Given the description of an element on the screen output the (x, y) to click on. 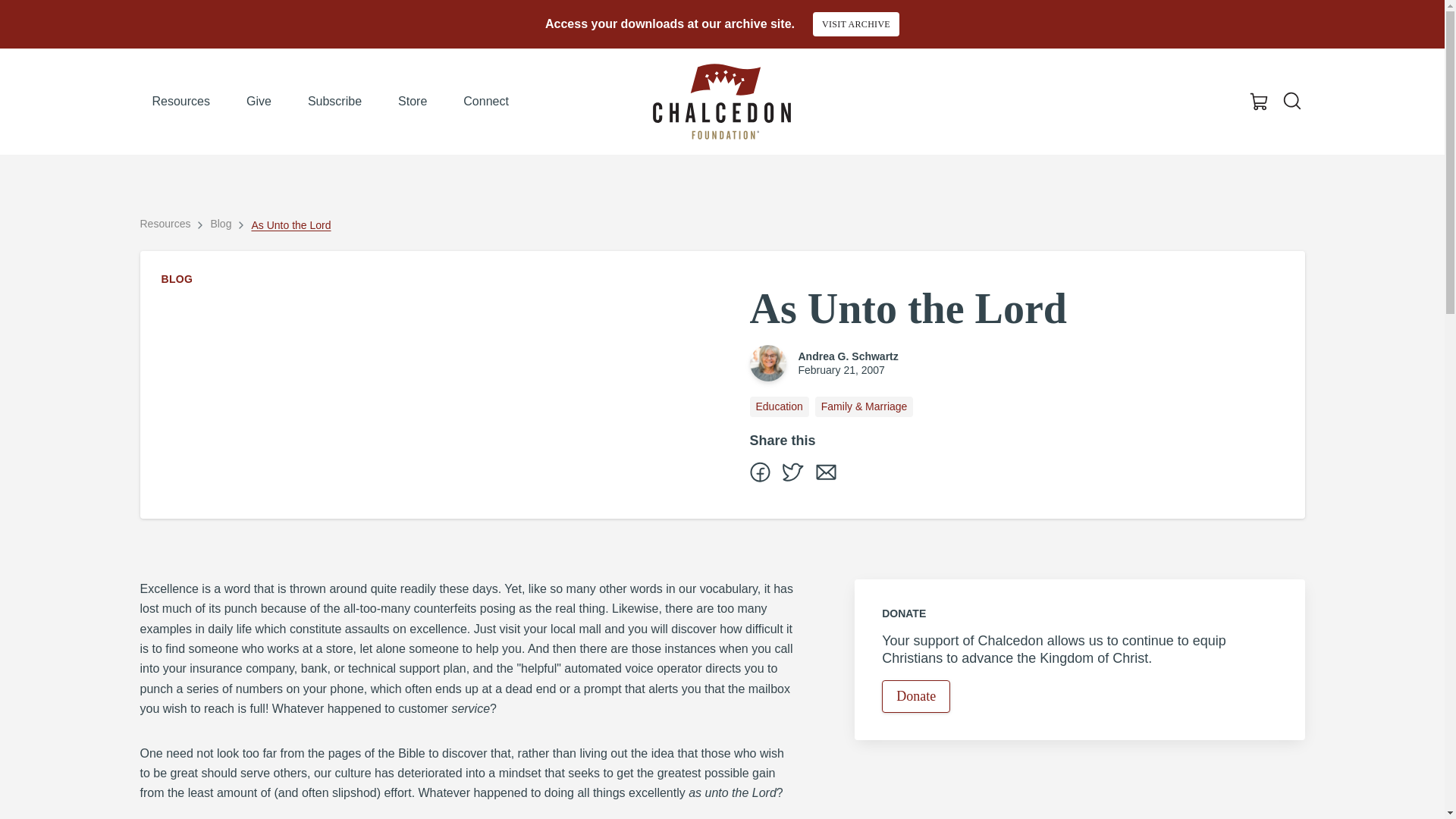
Donate (916, 696)
Give (258, 101)
Blog (220, 223)
Chalcedon (721, 101)
VISIT ARCHIVE (855, 24)
Resources (164, 223)
Education (778, 406)
View Cart (1258, 101)
Store (412, 101)
Connect (486, 101)
